Given the description of an element on the screen output the (x, y) to click on. 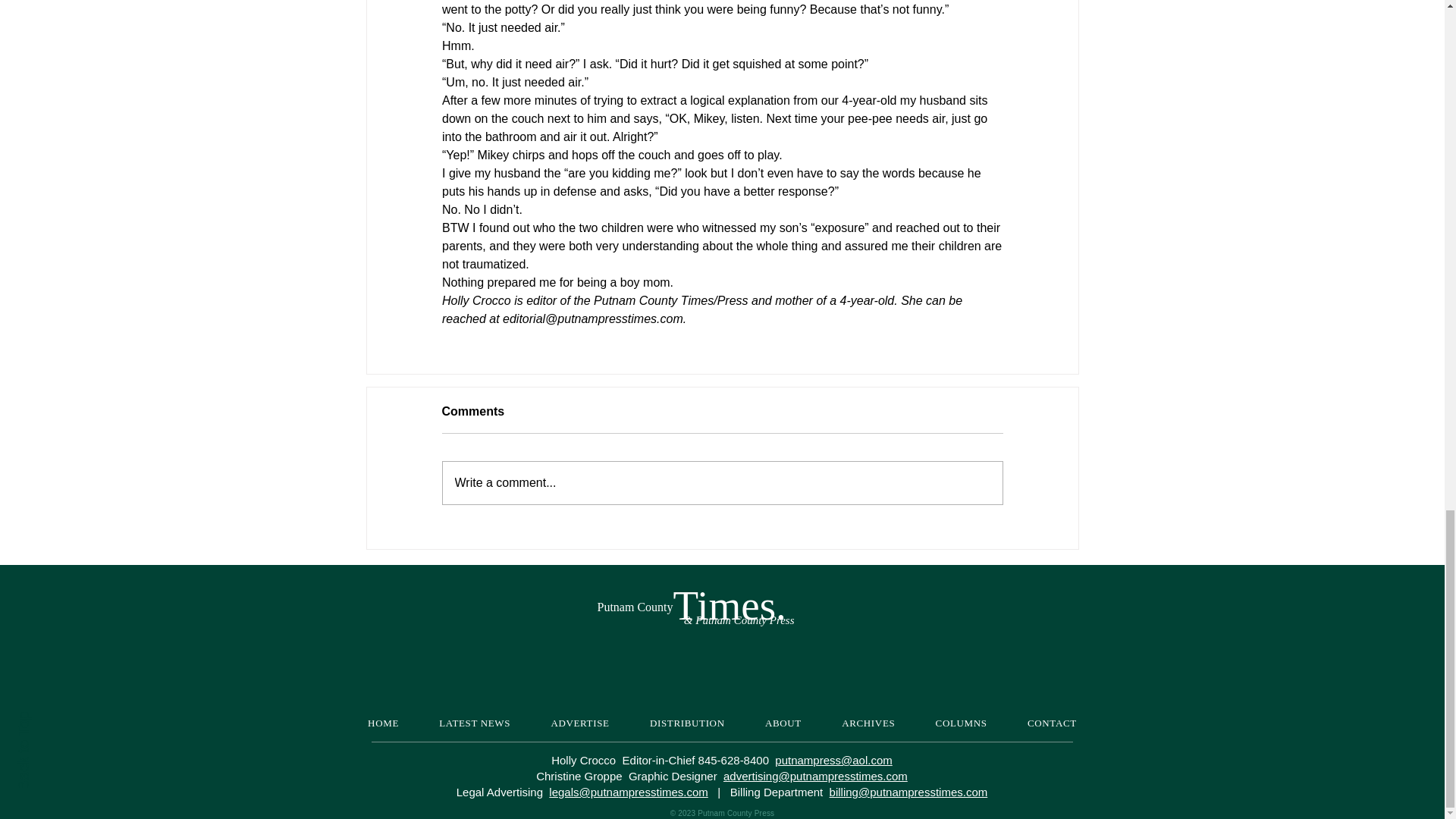
ADVERTISE (580, 723)
HOME (382, 723)
COLUMNS (961, 723)
CONTACT (1051, 723)
ABOUT (783, 723)
ARCHIVES (868, 723)
Write a comment... (722, 482)
LATEST NEWS (474, 723)
Times. (729, 605)
DISTRIBUTION (686, 723)
